Given the description of an element on the screen output the (x, y) to click on. 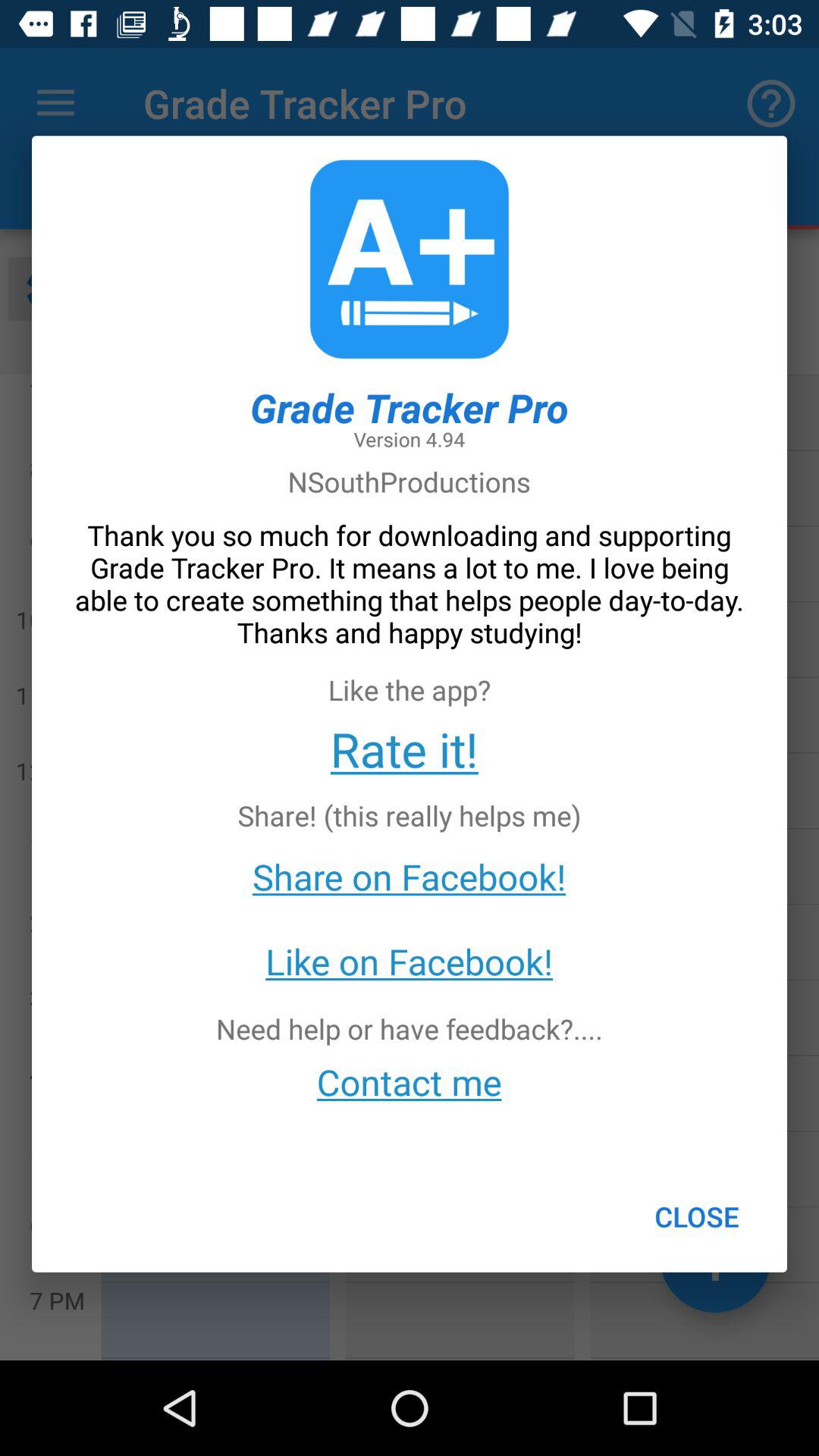
press close item (696, 1216)
